Given the description of an element on the screen output the (x, y) to click on. 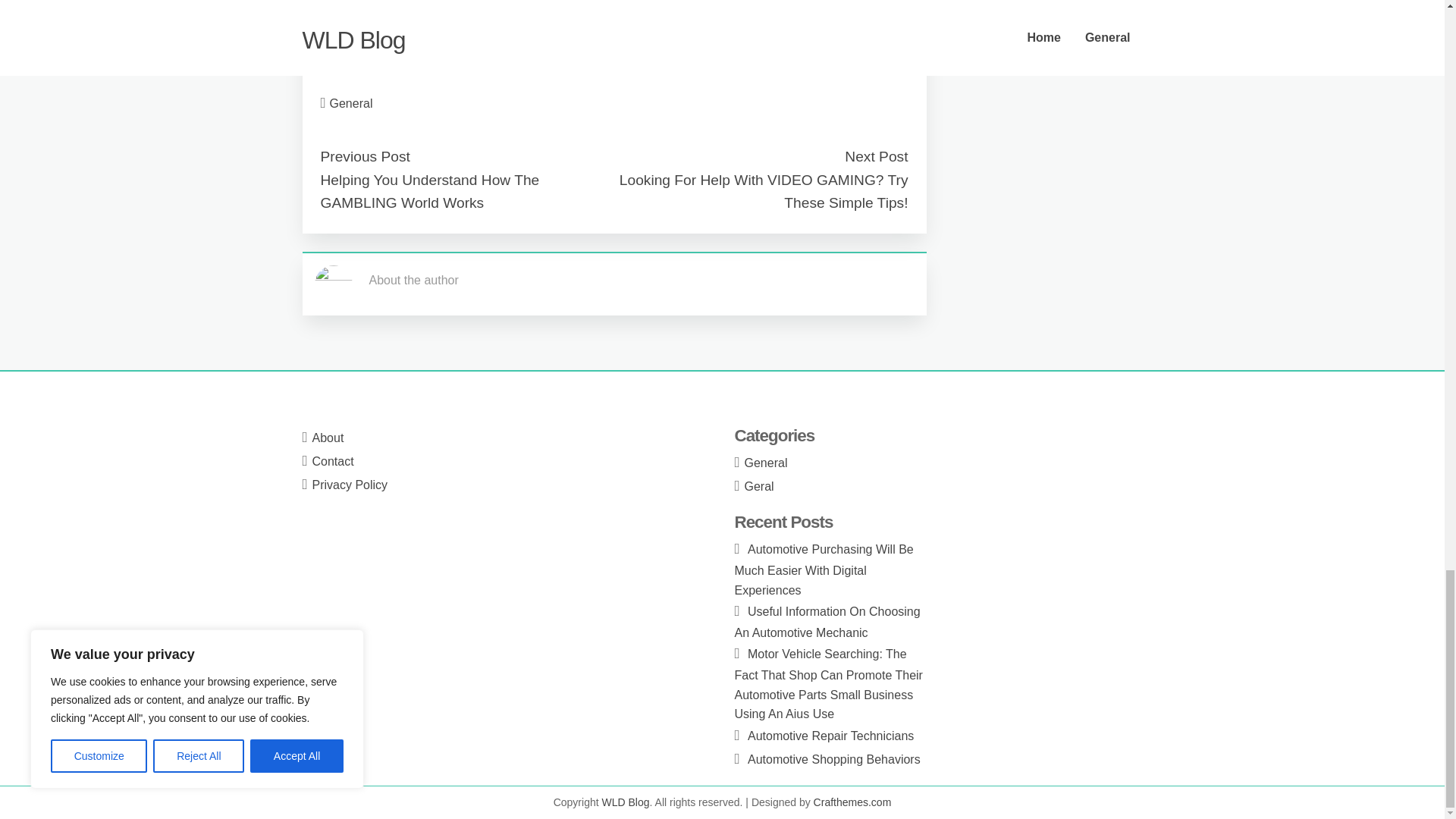
Helping You Understand How The GAMBLING World Works (429, 191)
General (765, 462)
About (328, 437)
Previous Post (364, 156)
General (351, 103)
Contact (333, 461)
Privacy Policy (350, 484)
Geral (759, 486)
Looking For Help With VIDEO GAMING? Try These Simple Tips! (764, 191)
Next Post (875, 156)
